Given the description of an element on the screen output the (x, y) to click on. 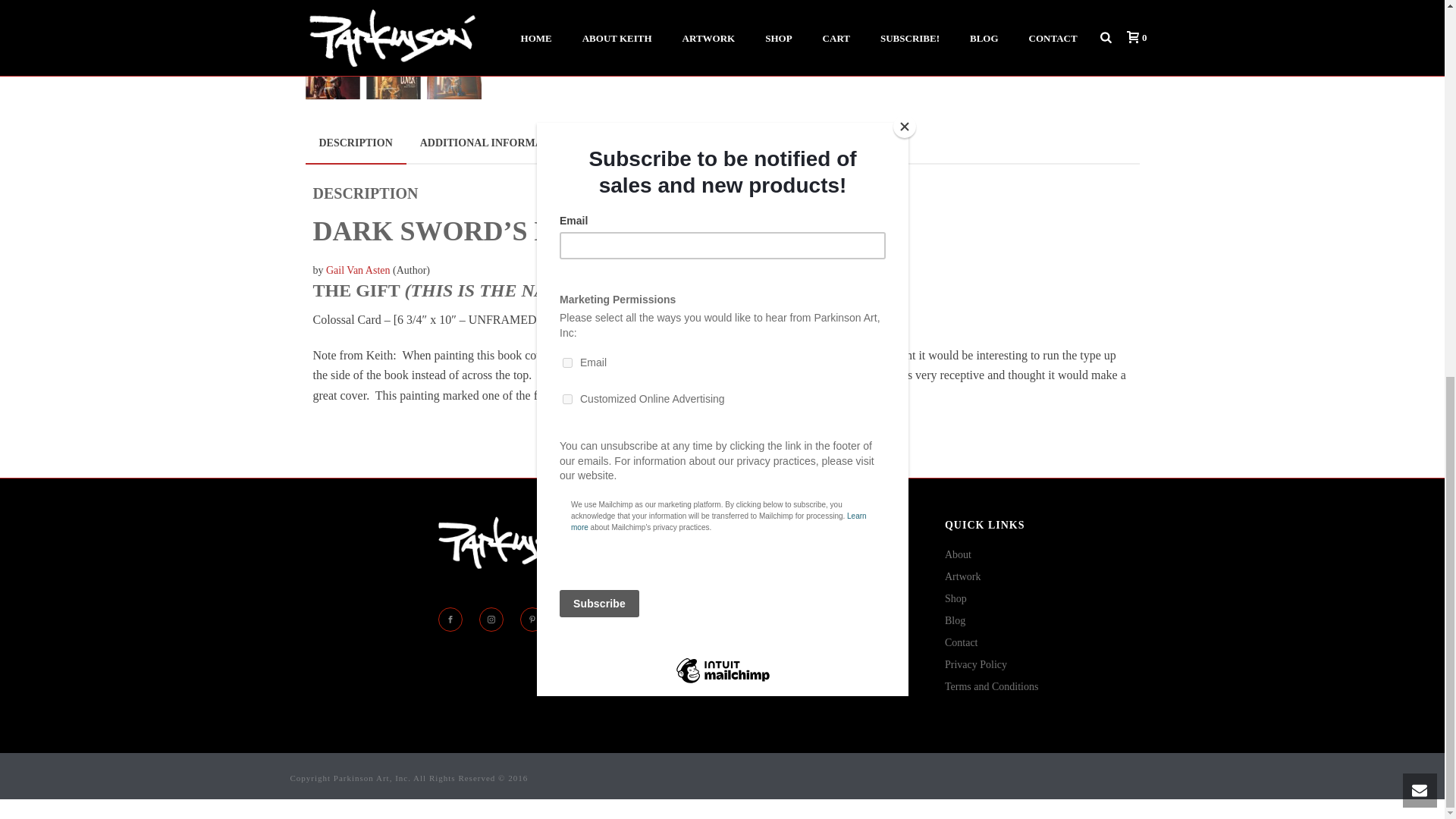
Follow Us on facebook (450, 619)
ADDITIONAL INFORMATION (494, 142)
Gail Van Asten (358, 270)
Follow Us on pinterest (531, 619)
DESCRIPTION (355, 143)
Follow Us on instagram (491, 619)
the-gift3 (483, 19)
